Given the description of an element on the screen output the (x, y) to click on. 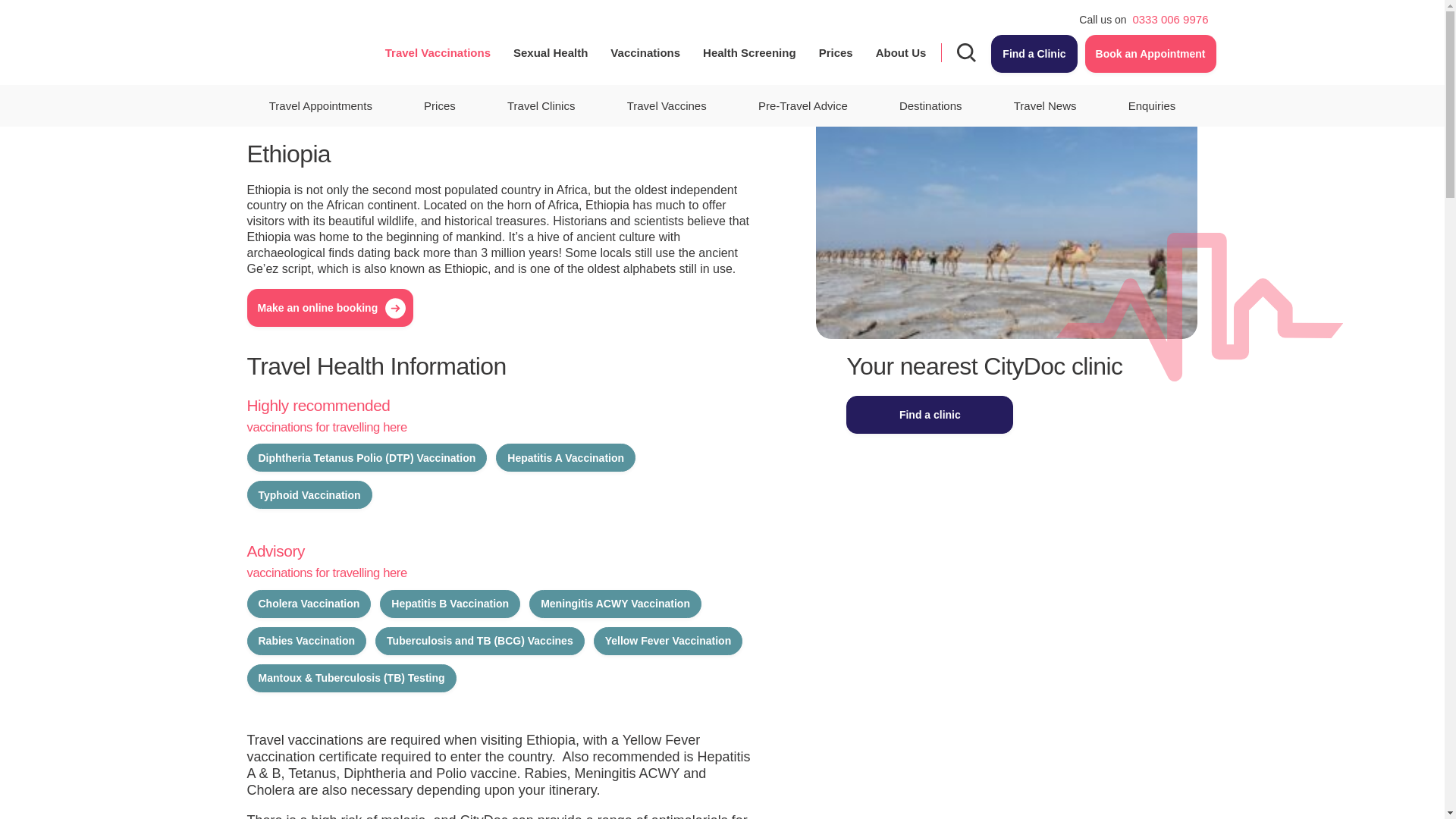
Prices (439, 105)
Travel Vaccinations (437, 52)
Prices (835, 52)
Yellow Fever Vaccination (668, 641)
Find a Clinic (1034, 53)
Search (965, 52)
Prices (439, 105)
Travel Vaccines (666, 105)
Prices (835, 52)
